Given the description of an element on the screen output the (x, y) to click on. 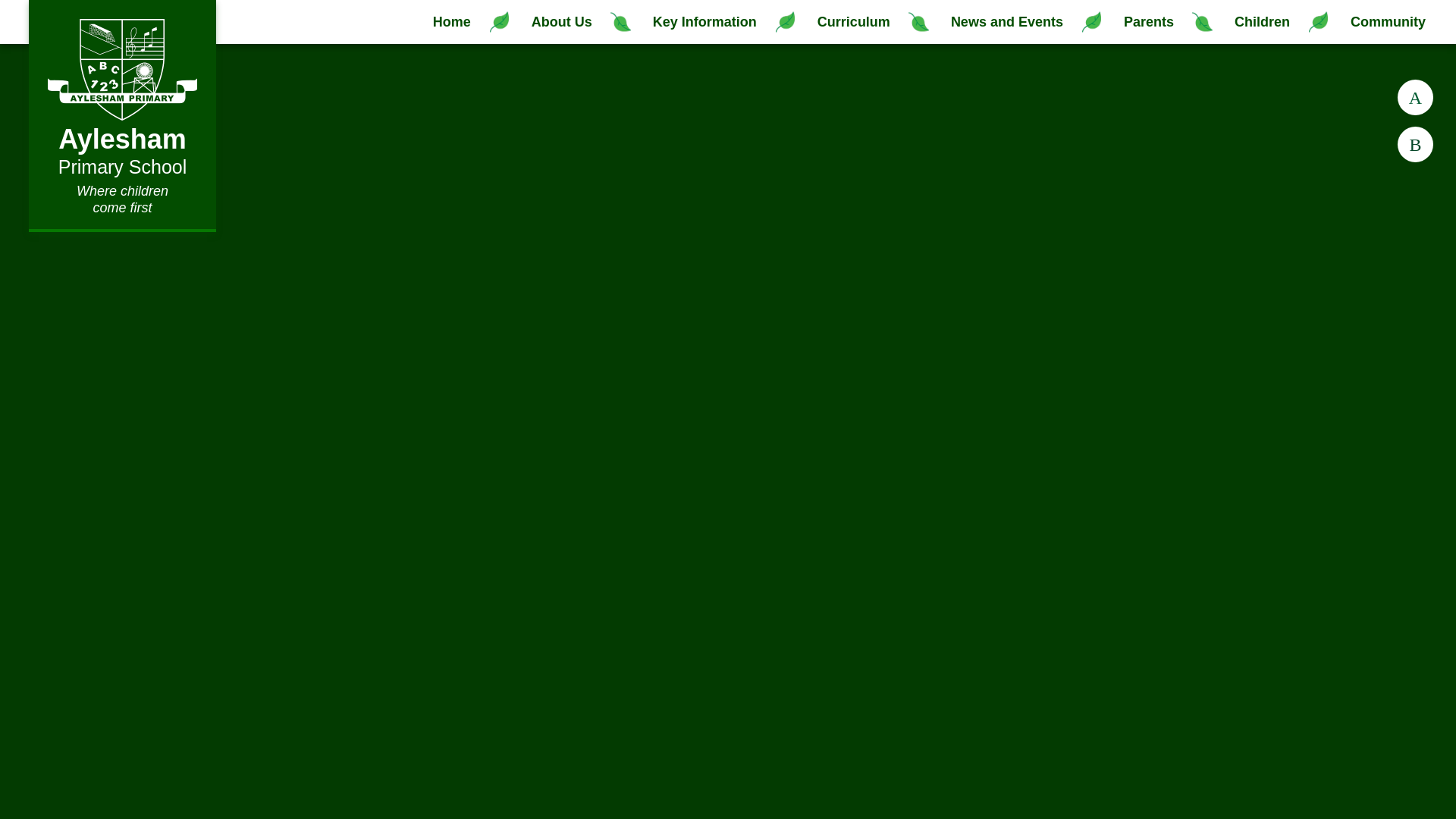
Key Information (704, 22)
About Us (561, 22)
Curriculum (852, 22)
Home Page (122, 64)
